Given the description of an element on the screen output the (x, y) to click on. 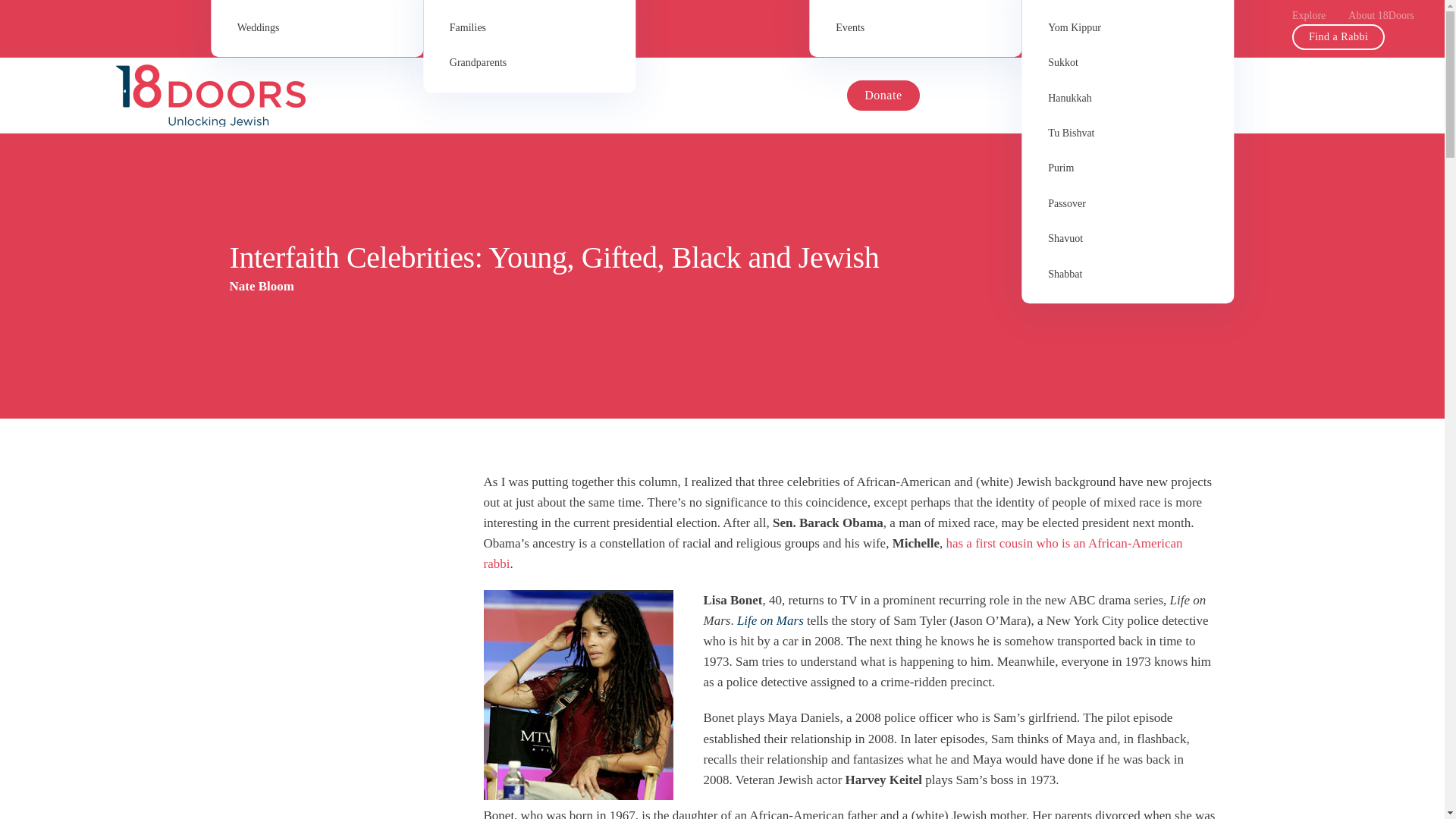
Sukkot (1127, 62)
Couples (317, 5)
Shabbat (1127, 274)
Grandparents (528, 62)
About 18Doors (1380, 15)
Families (528, 27)
Yom Kippur (1127, 27)
Shavuot (1127, 238)
Tu Bishvat (1127, 133)
18Doors Local (915, 5)
